Given the description of an element on the screen output the (x, y) to click on. 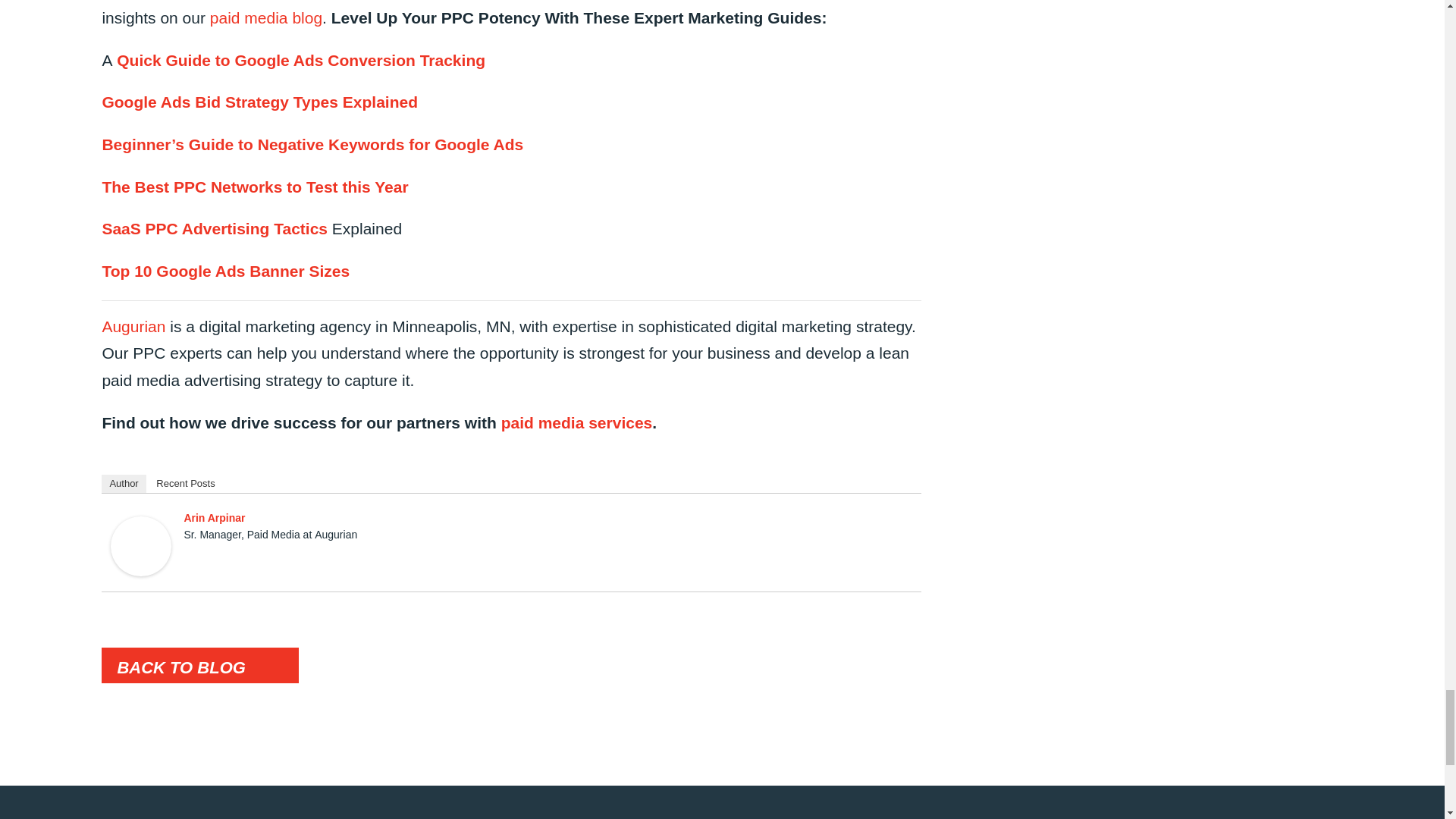
Arin Arpinar (140, 544)
